Given the description of an element on the screen output the (x, y) to click on. 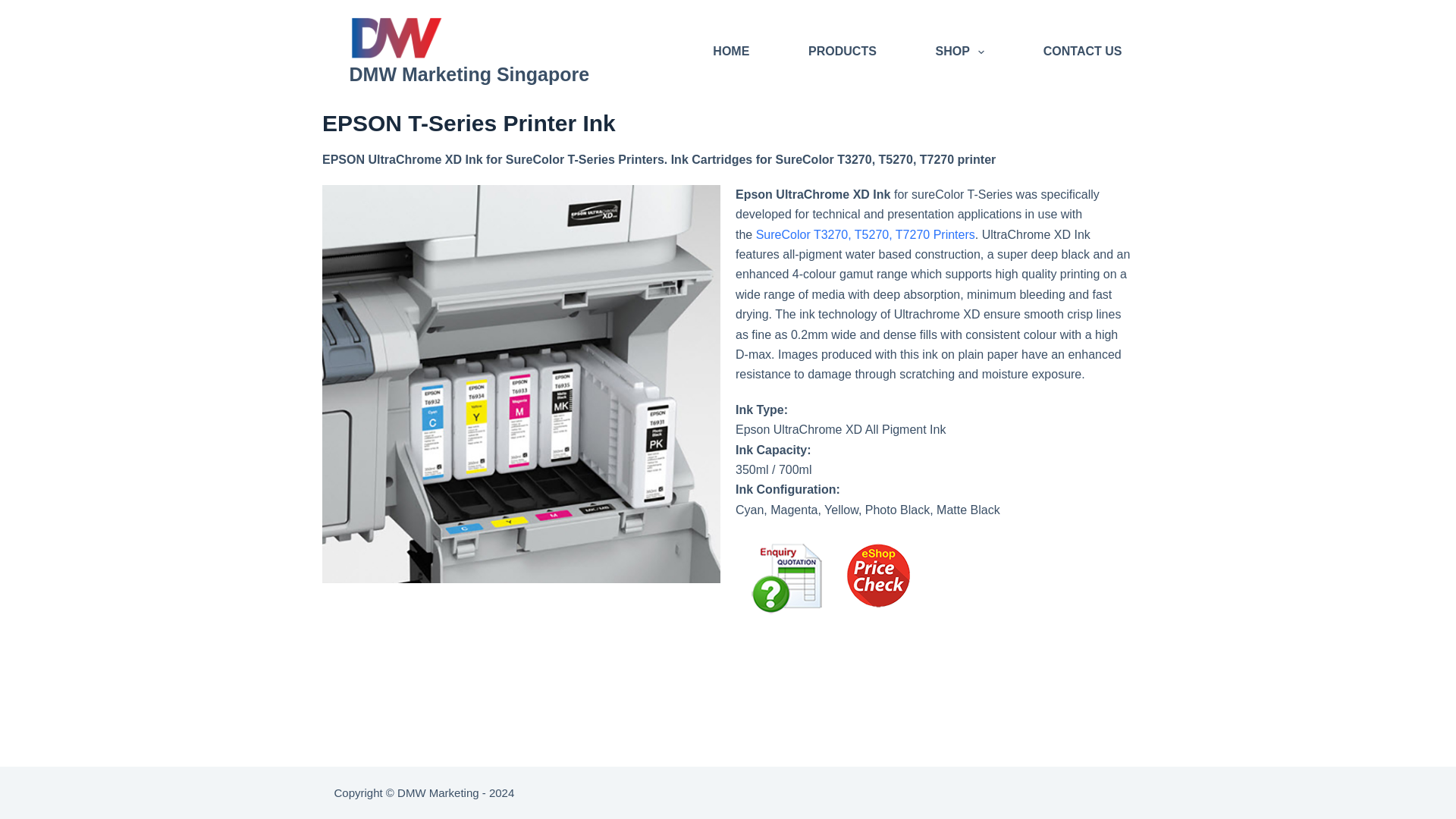
Skip to content (15, 7)
PRODUCTS (842, 52)
DMW Marketing Singapore (469, 74)
